Given the description of an element on the screen output the (x, y) to click on. 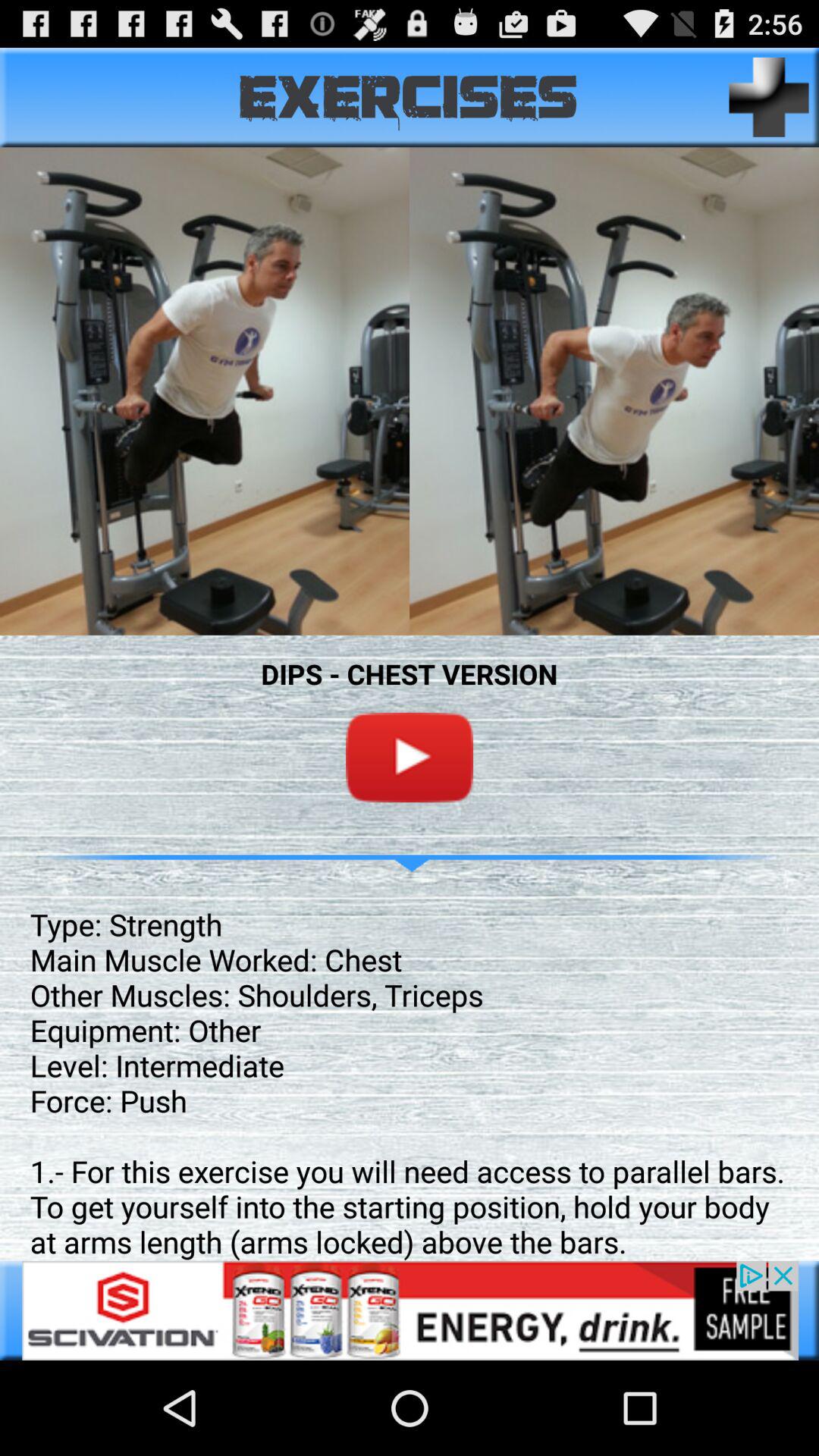
open advertisement (409, 1310)
